Given the description of an element on the screen output the (x, y) to click on. 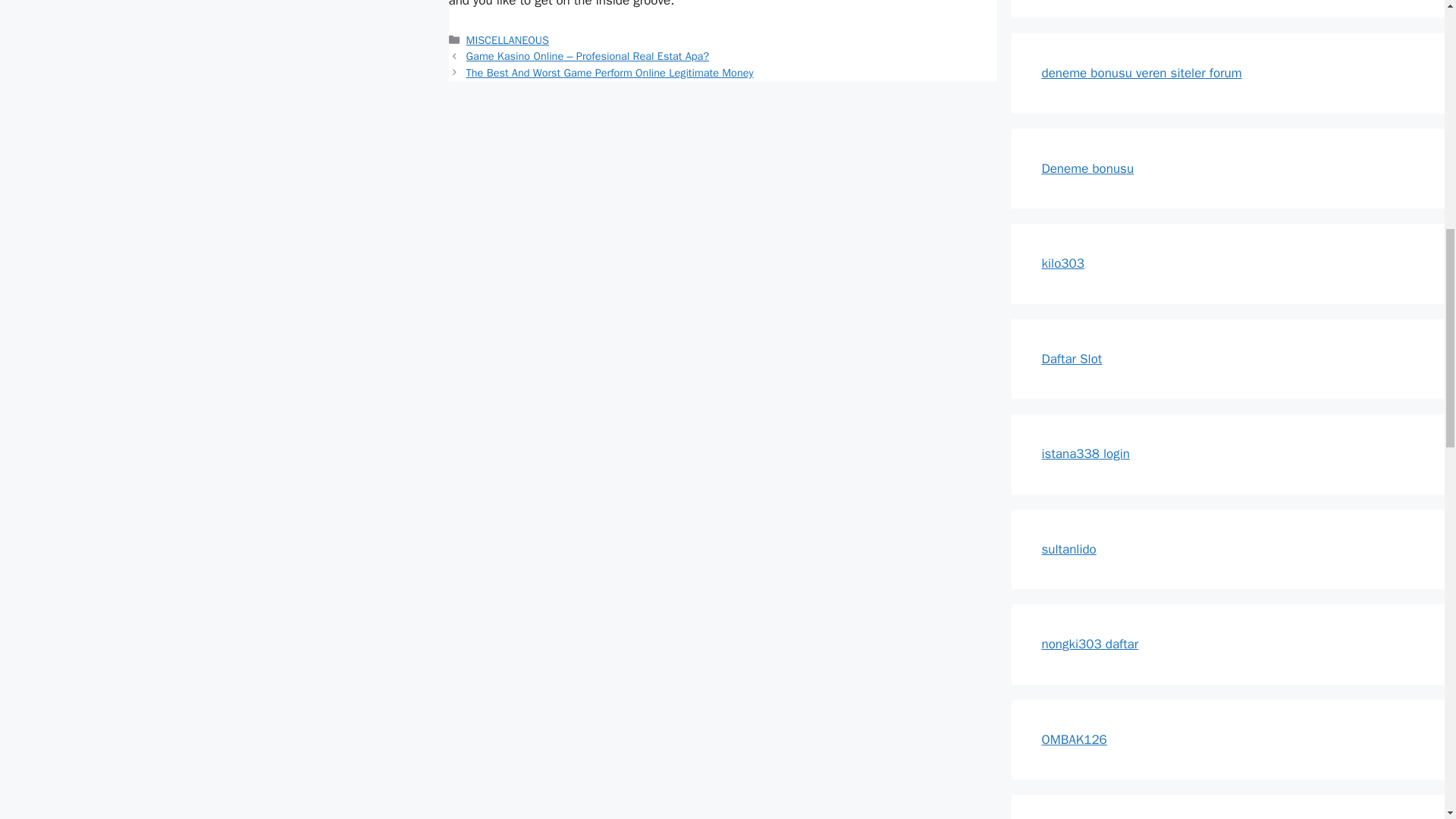
The Best And Worst Game Perform Online Legitimate Money (609, 72)
deneme bonusu veren siteler forum (1141, 73)
Deneme bonusu (1088, 168)
sultanlido (1069, 549)
istana338 login (1085, 453)
OMBAK126 (1074, 738)
nongki303 daftar (1090, 643)
Daftar Slot (1072, 358)
MISCELLANEOUS (506, 39)
kilo303 (1063, 263)
